Given the description of an element on the screen output the (x, y) to click on. 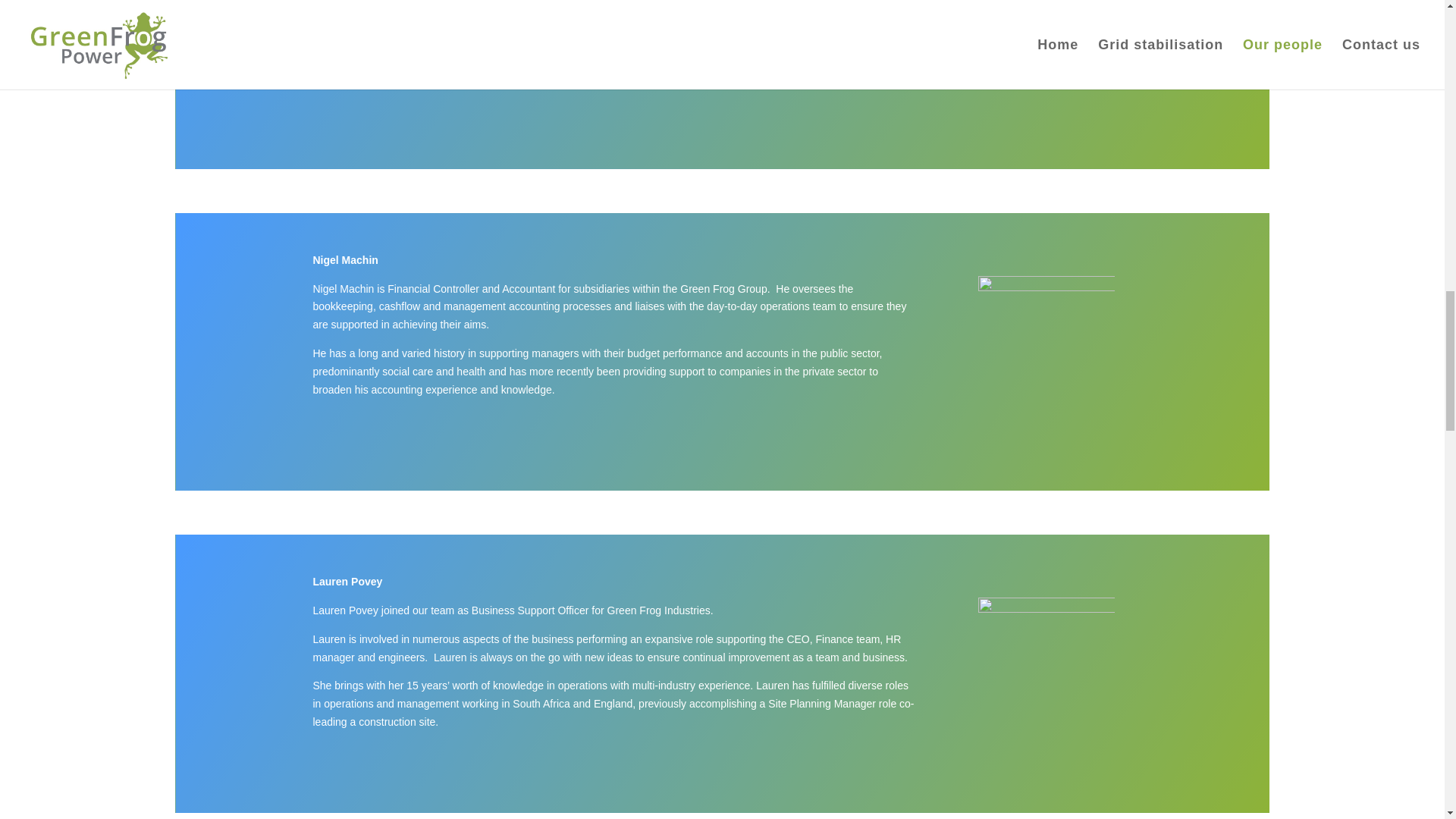
charlotte Fletcher green frog power (1046, 67)
